Given the description of an element on the screen output the (x, y) to click on. 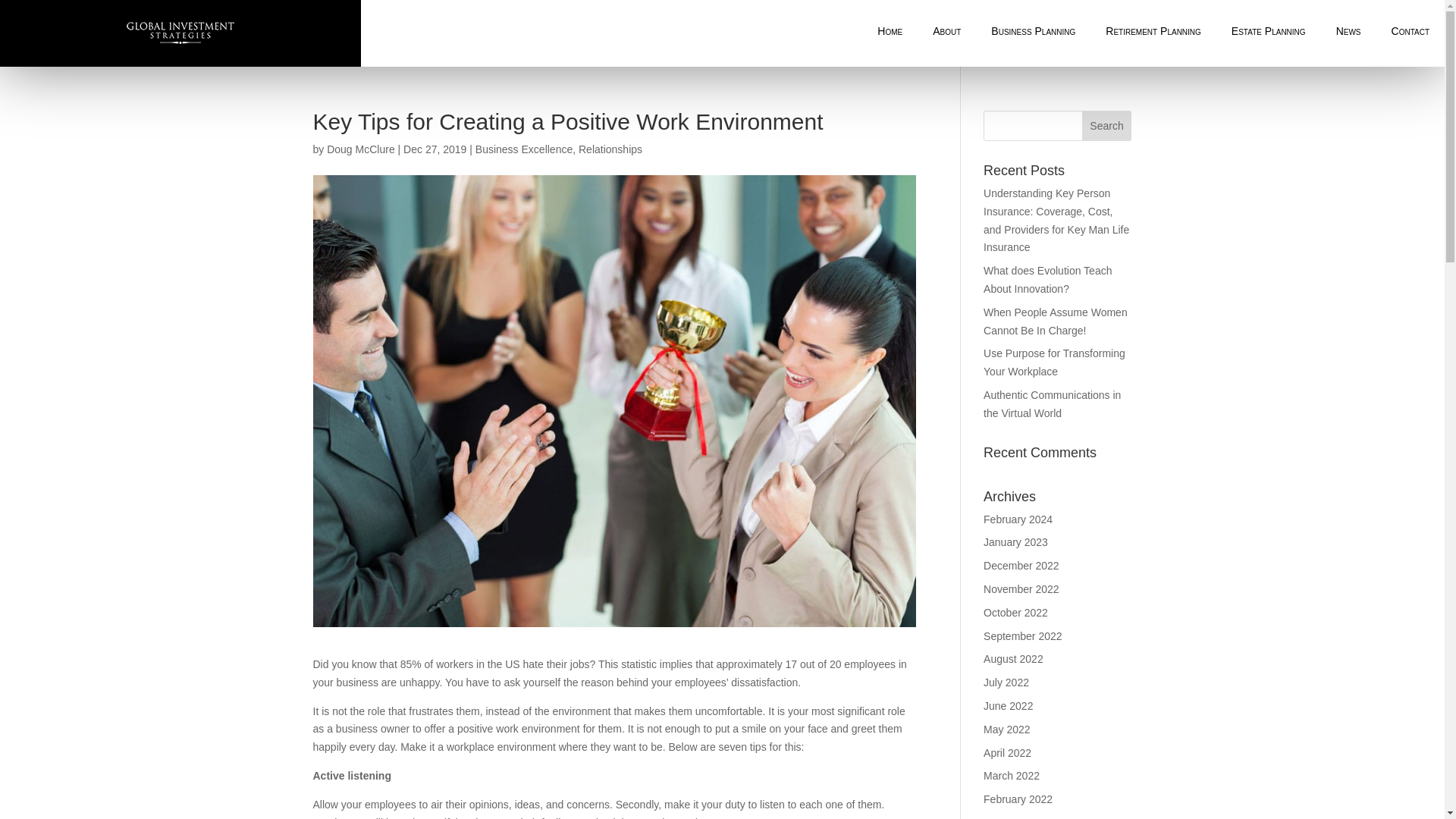
Retirement Planning (1152, 31)
Maximizing Your Wealth: The Key to Financial Management (889, 31)
About (946, 31)
News (1347, 31)
Estate Planning (1267, 31)
Search (1106, 125)
Home (889, 31)
Business Planning (1032, 31)
